Given the description of an element on the screen output the (x, y) to click on. 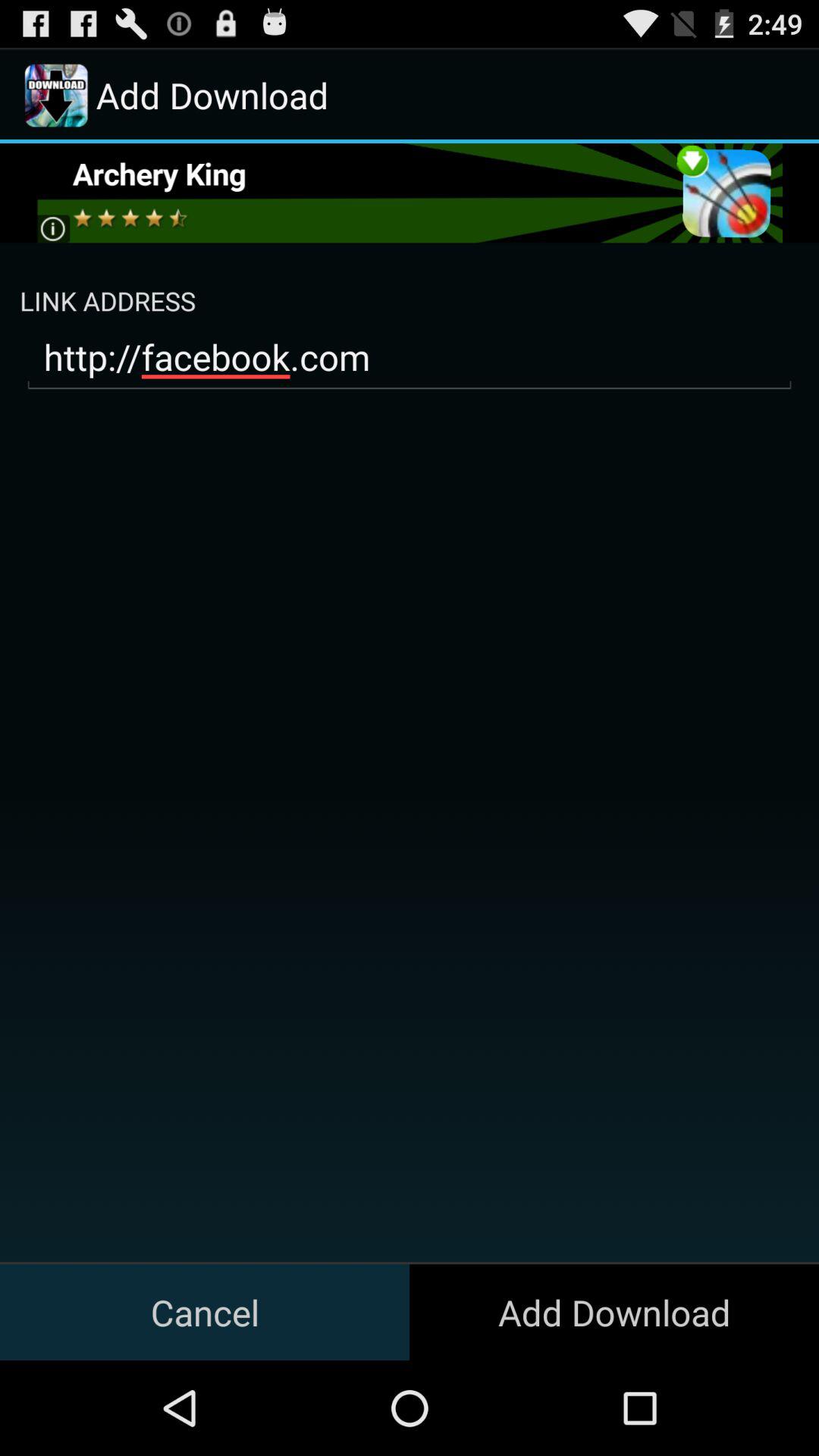
follow advertisement banner (408, 192)
